Given the description of an element on the screen output the (x, y) to click on. 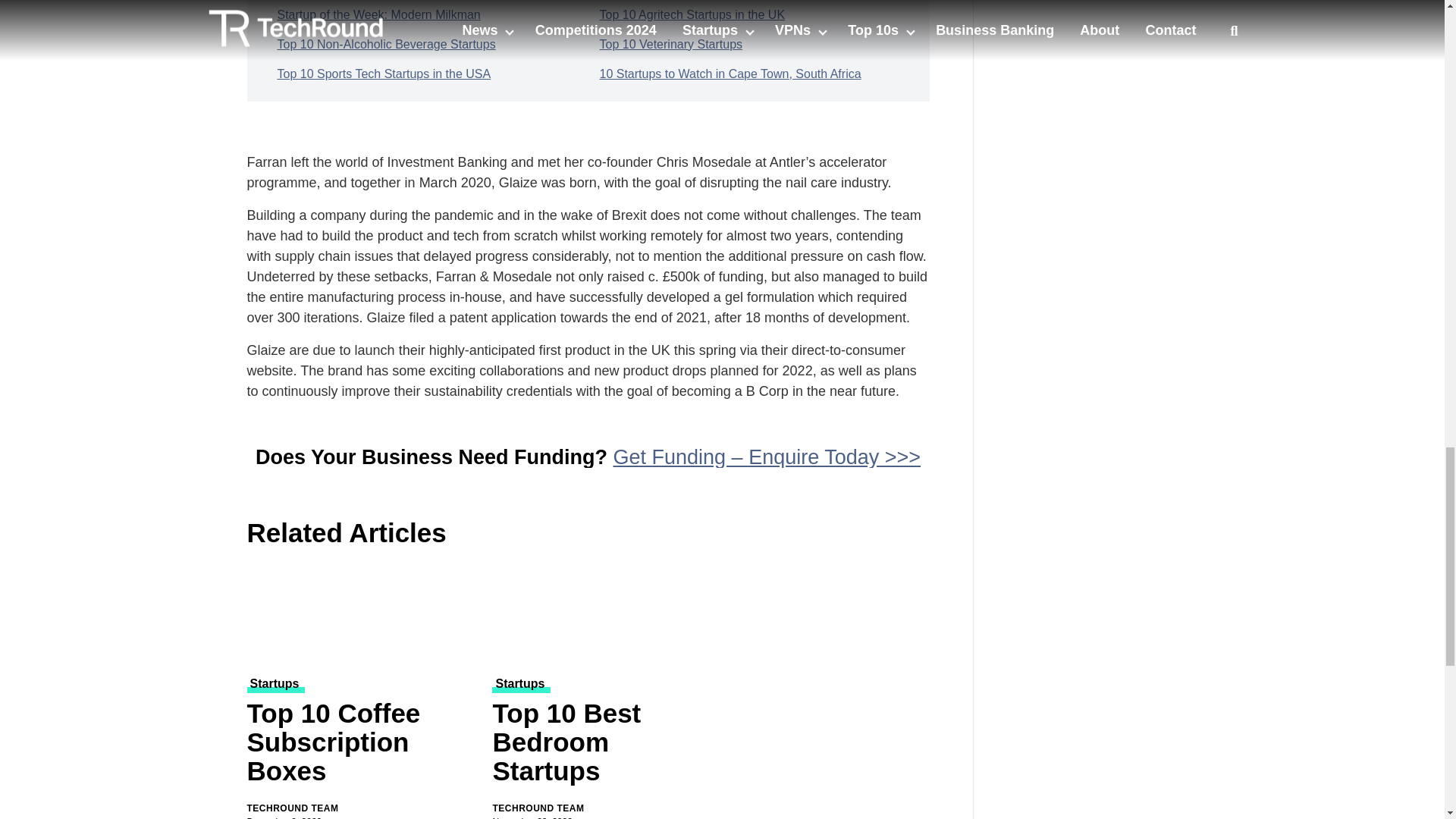
Enter The BAME Top 50 Entrepreneurs - Deadline 10th Nov 2021 (1107, 17)
Top 10 Coffee Subscription Boxes (360, 613)
Top 10 Coffee Subscription Boxes (360, 745)
